Given the description of an element on the screen output the (x, y) to click on. 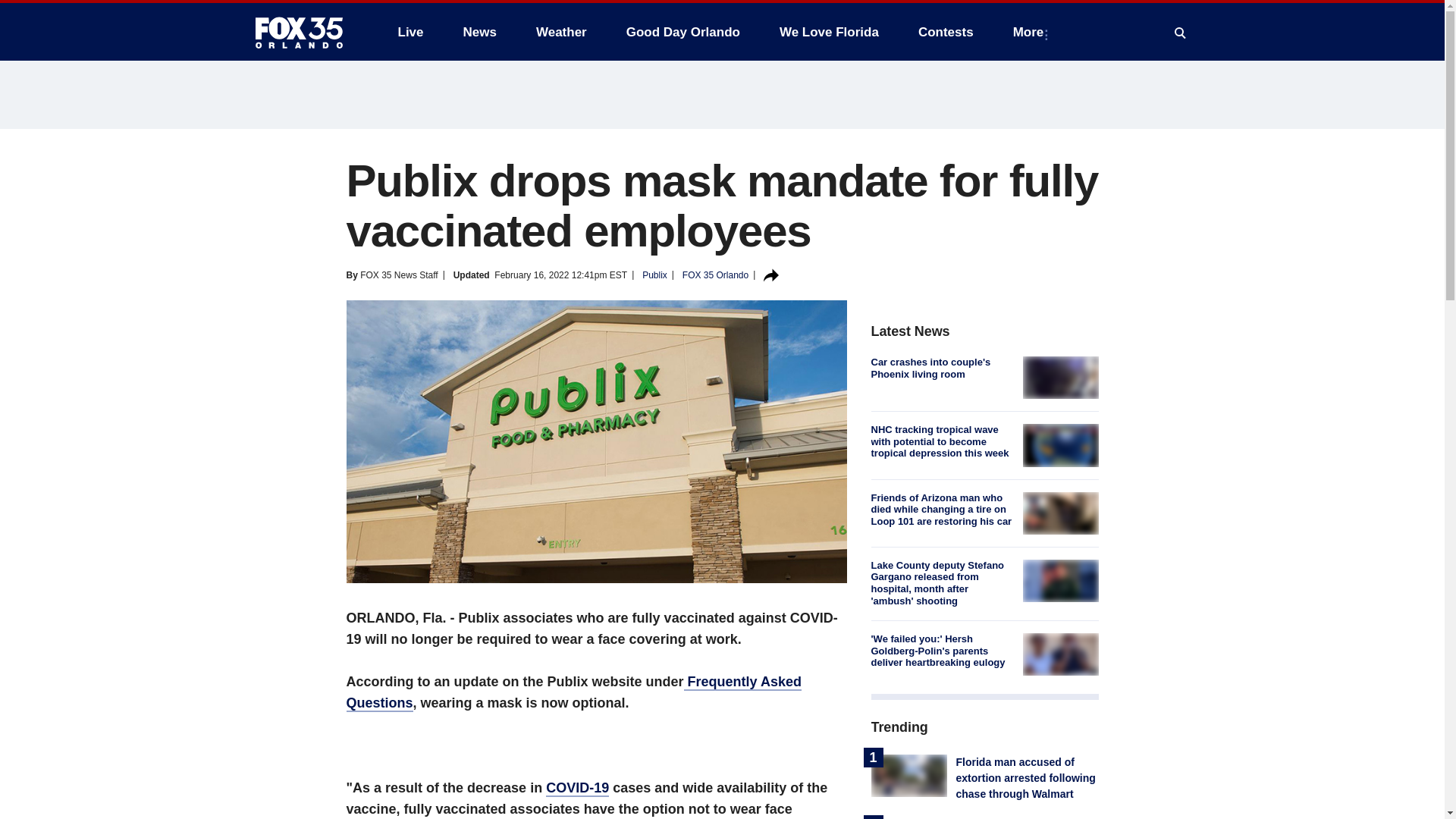
Contests (945, 32)
News (479, 32)
More (1031, 32)
Weather (561, 32)
Good Day Orlando (683, 32)
Live (410, 32)
We Love Florida (829, 32)
